Given the description of an element on the screen output the (x, y) to click on. 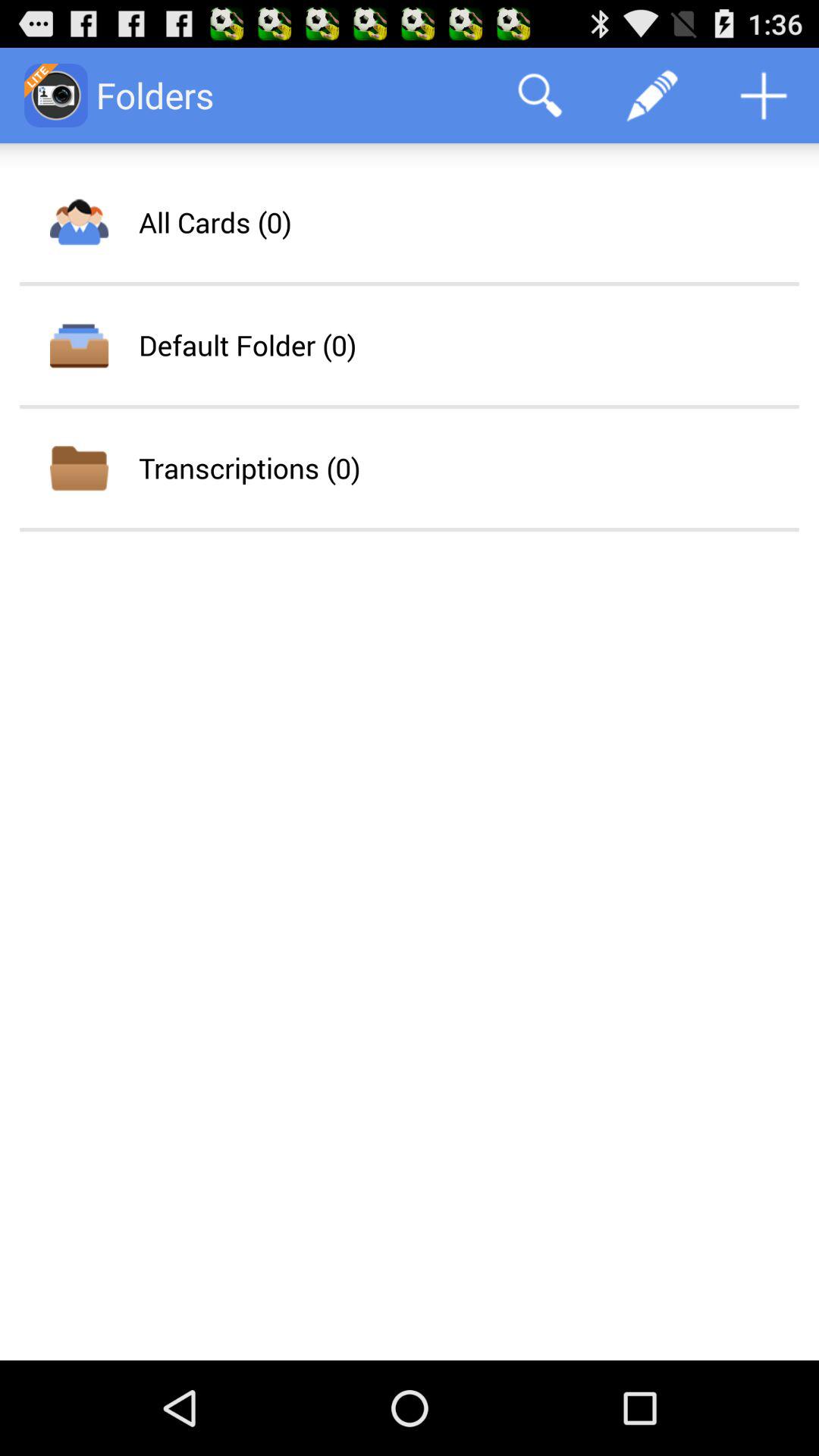
tap all cards (0) item (214, 222)
